Given the description of an element on the screen output the (x, y) to click on. 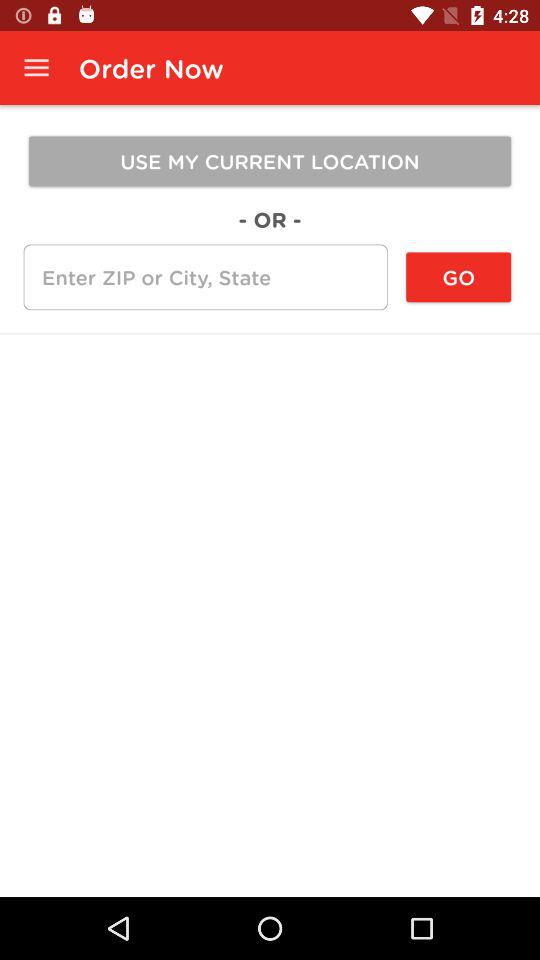
turn off the go item (458, 277)
